Given the description of an element on the screen output the (x, y) to click on. 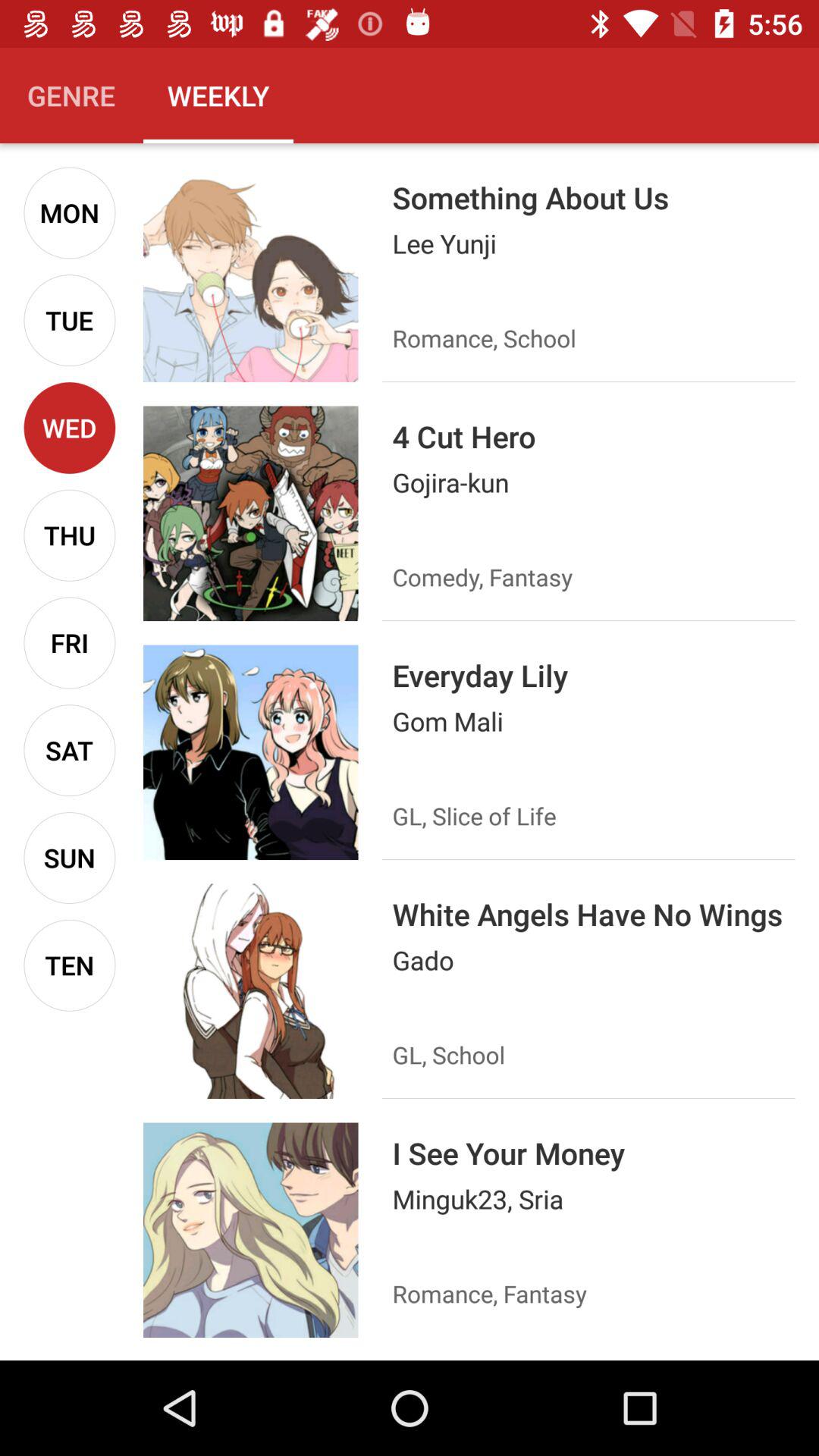
flip to the fri icon (69, 642)
